Given the description of an element on the screen output the (x, y) to click on. 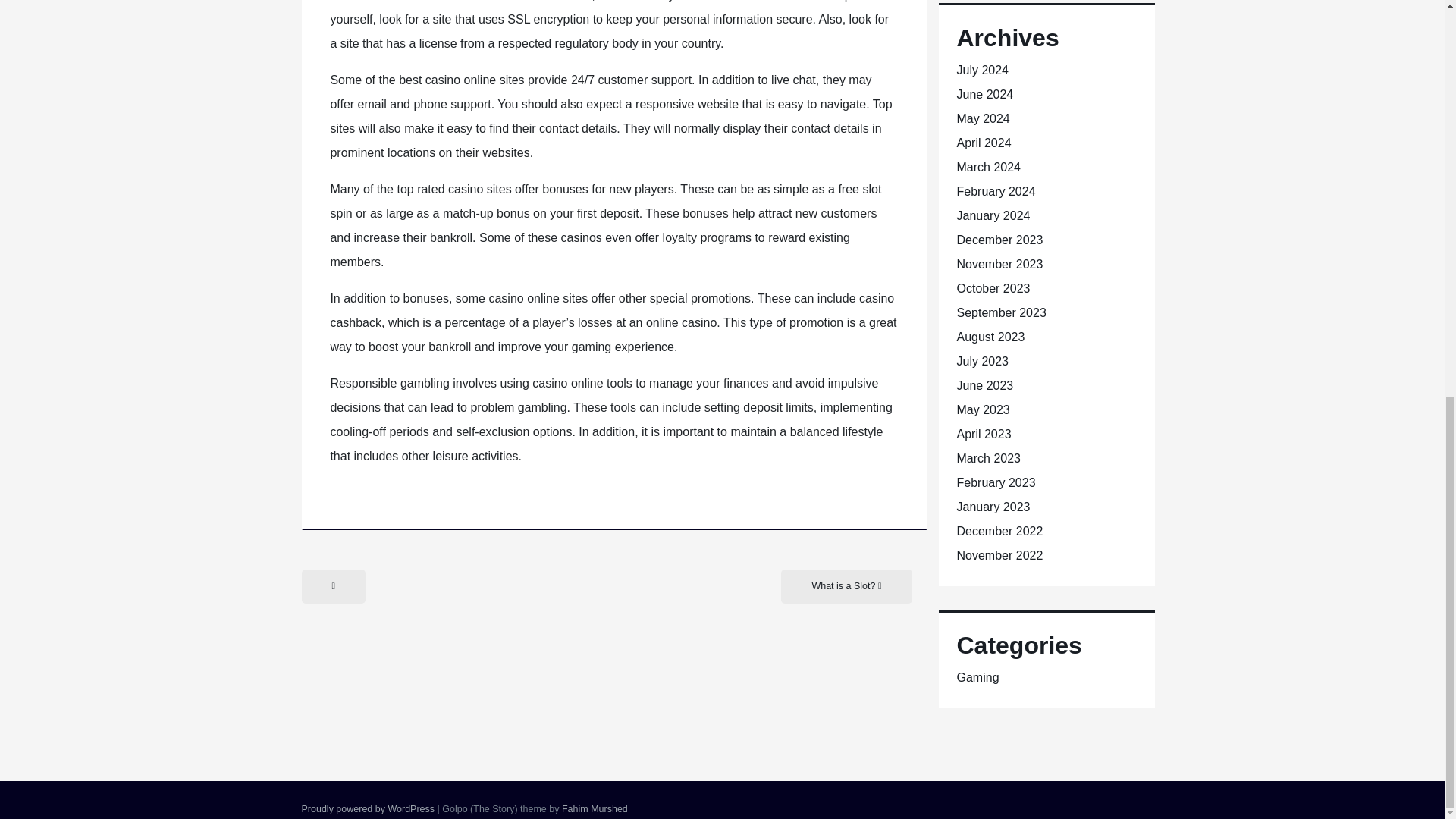
January 2024 (993, 215)
April 2024 (983, 142)
April 2023 (983, 433)
Proudly powered by WordPress (368, 808)
May 2023 (983, 409)
June 2024 (984, 93)
January 2023 (993, 506)
September 2023 (1001, 312)
May 2024 (983, 118)
Gaming (977, 676)
December 2022 (999, 530)
June 2023 (984, 385)
October 2023 (993, 287)
July 2023 (982, 360)
November 2023 (999, 264)
